Given the description of an element on the screen output the (x, y) to click on. 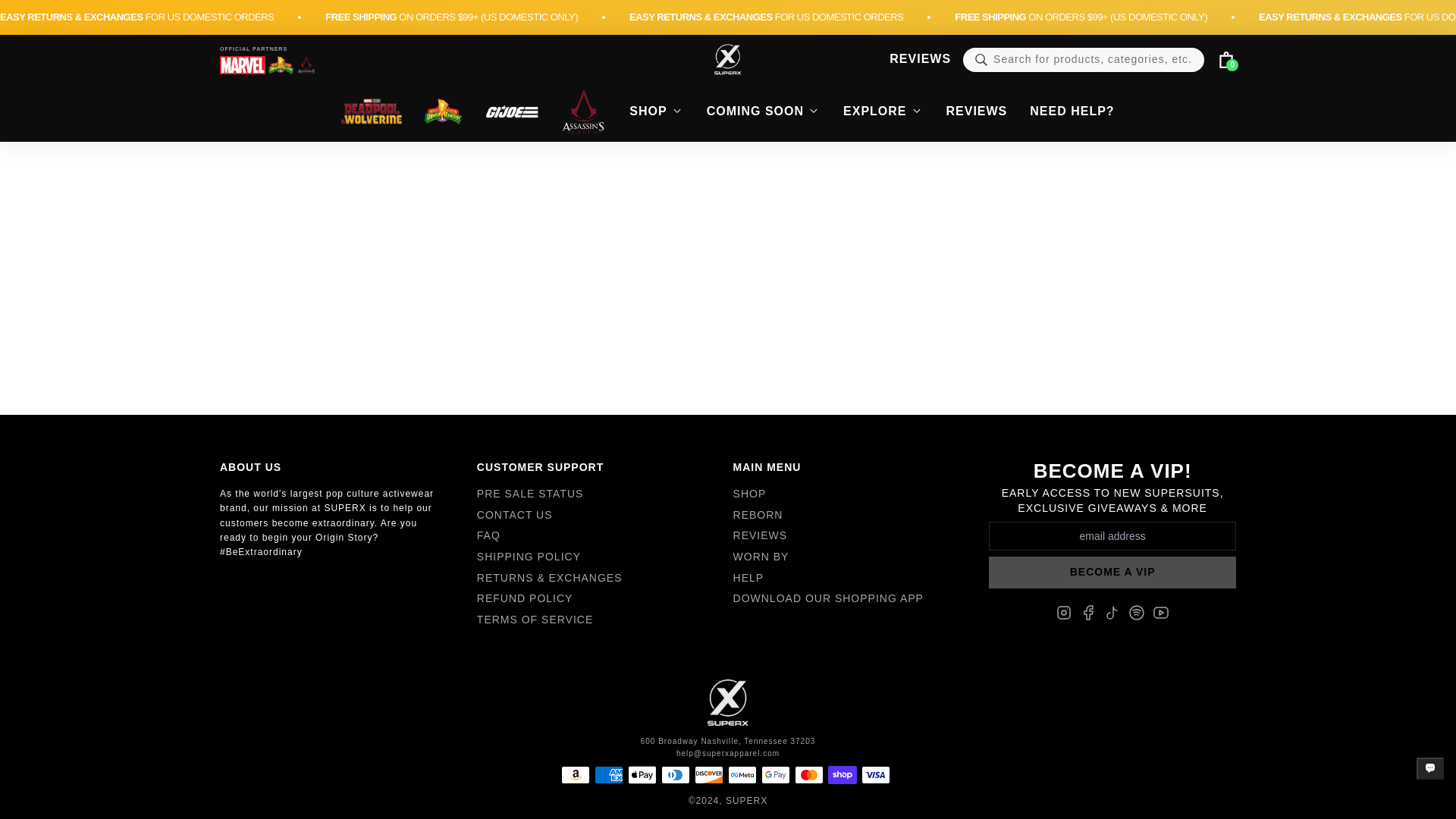
PRE SALE STATUS (600, 494)
REVIEWS (976, 112)
EXPLORE (882, 112)
SHOP (856, 494)
TERMS OF SERVICE (600, 620)
CONTACT US (600, 515)
SHIPPING POLICY (600, 557)
REVIEWS (919, 58)
REFUND POLICY (600, 598)
HELP (856, 578)
DOWNLOAD OUR SHOPPING APP (856, 598)
WORN BY (856, 557)
BECOME A VIP (1112, 572)
SHOP (655, 112)
FAQ (600, 535)
